Given the description of an element on the screen output the (x, y) to click on. 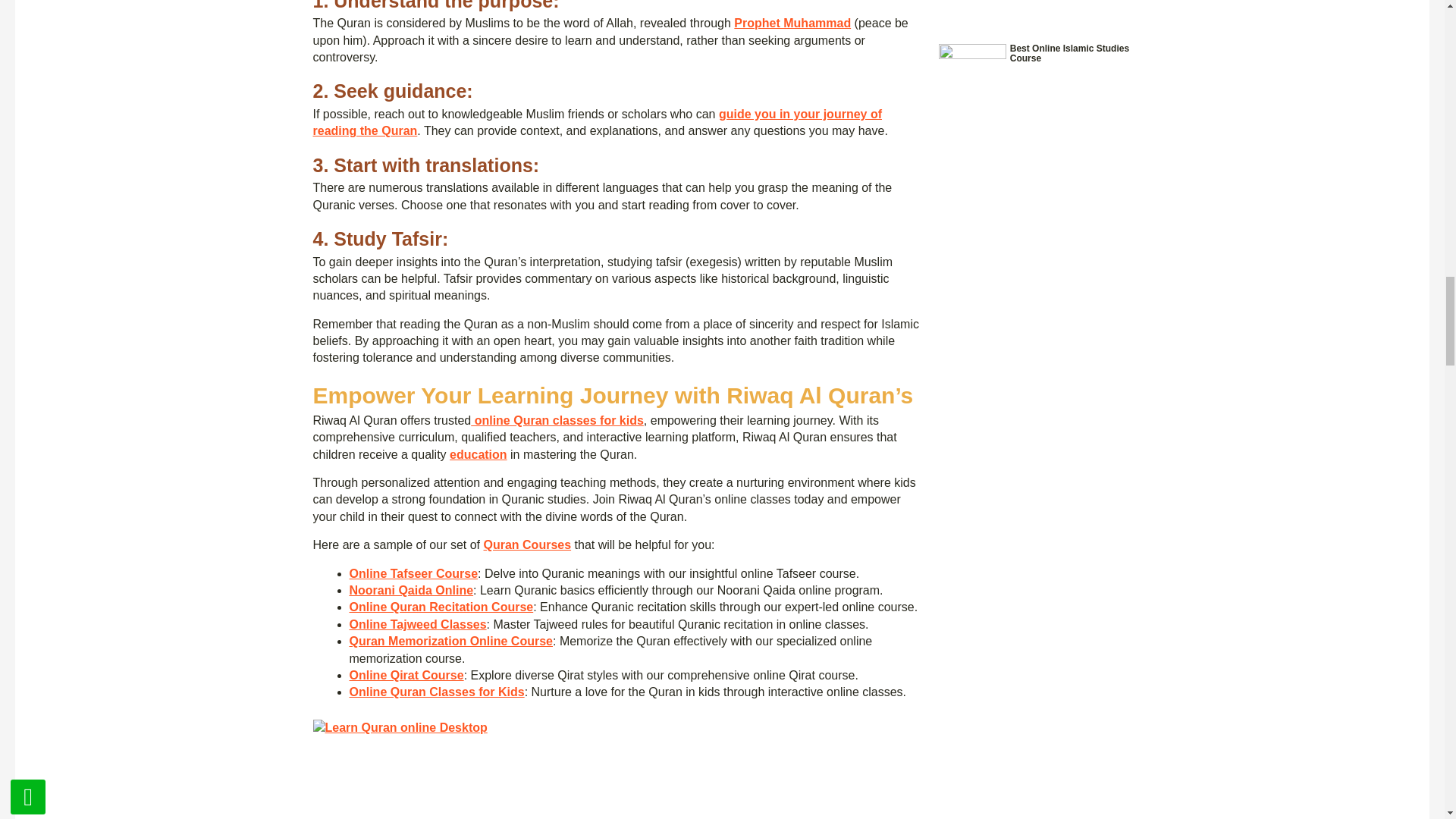
How to Start Reading the Quran? Full Guide (597, 122)
